Given the description of an element on the screen output the (x, y) to click on. 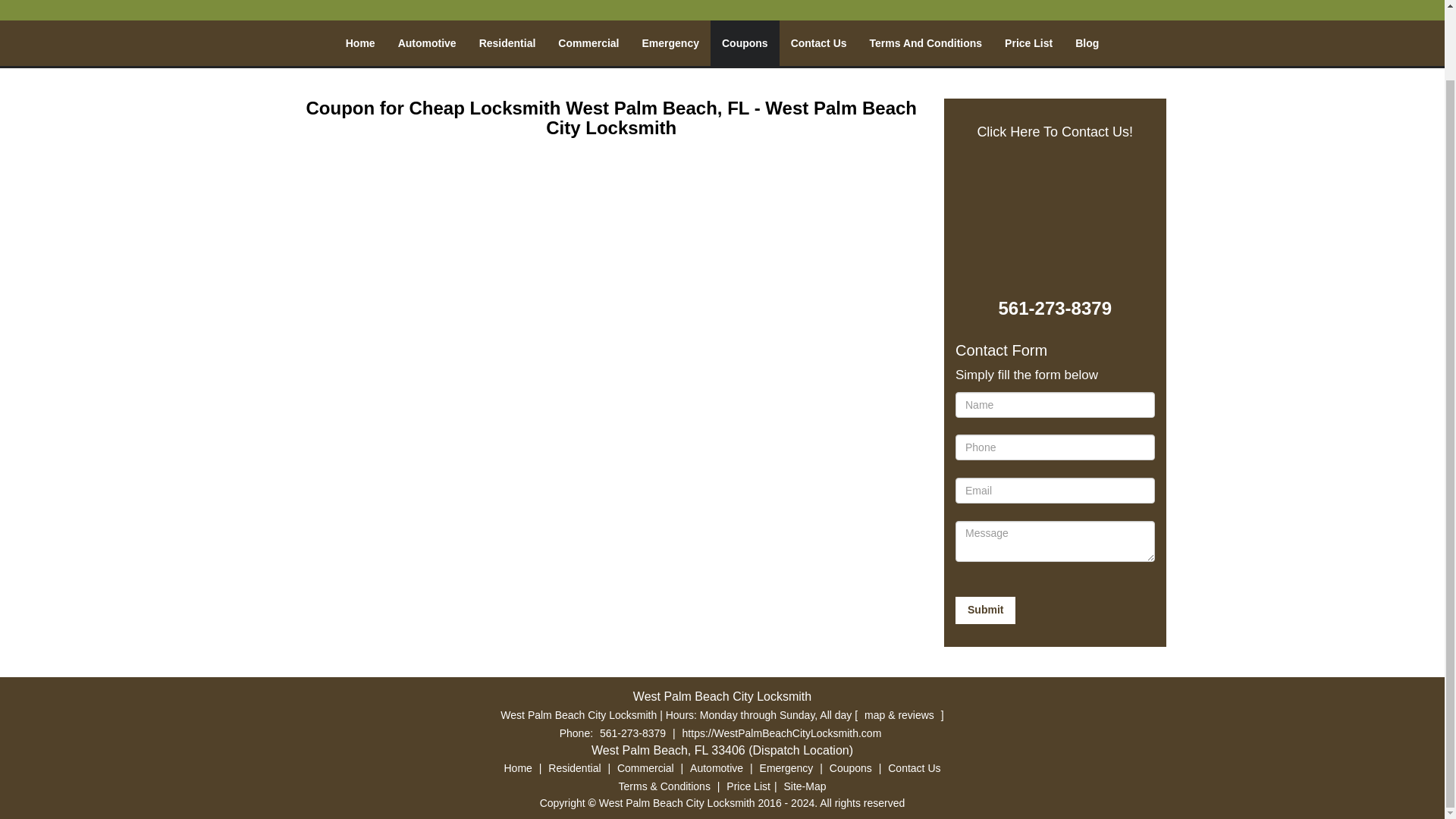
Blog (1086, 43)
Home (360, 43)
Click Here To Contact Us! (1054, 132)
Emergency (670, 43)
Phone Field required (1054, 447)
Commercial (645, 767)
Commercial (588, 43)
Contact Us (818, 43)
Automotive (427, 43)
Home (517, 767)
